Given the description of an element on the screen output the (x, y) to click on. 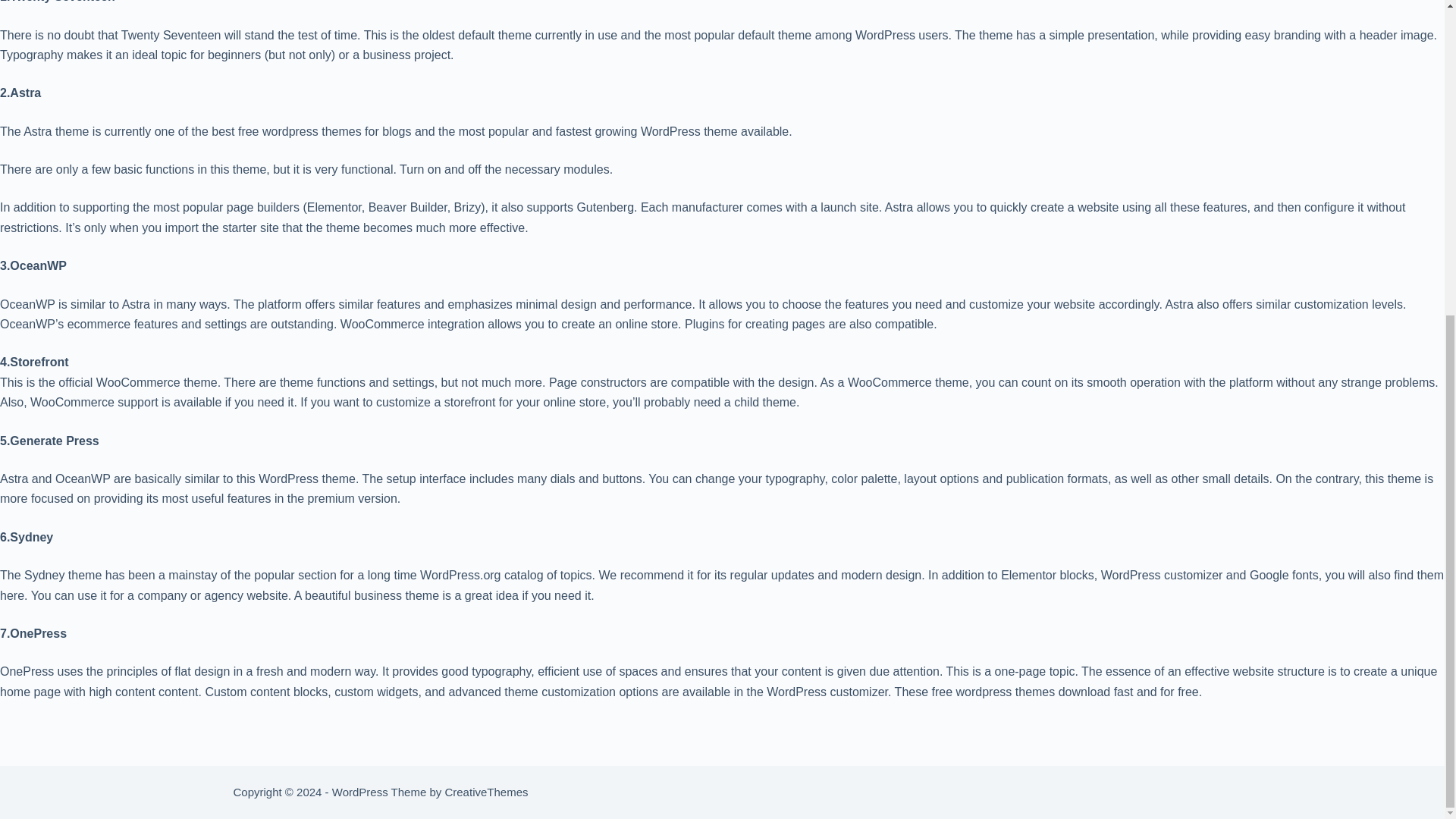
CreativeThemes (485, 791)
